Given the description of an element on the screen output the (x, y) to click on. 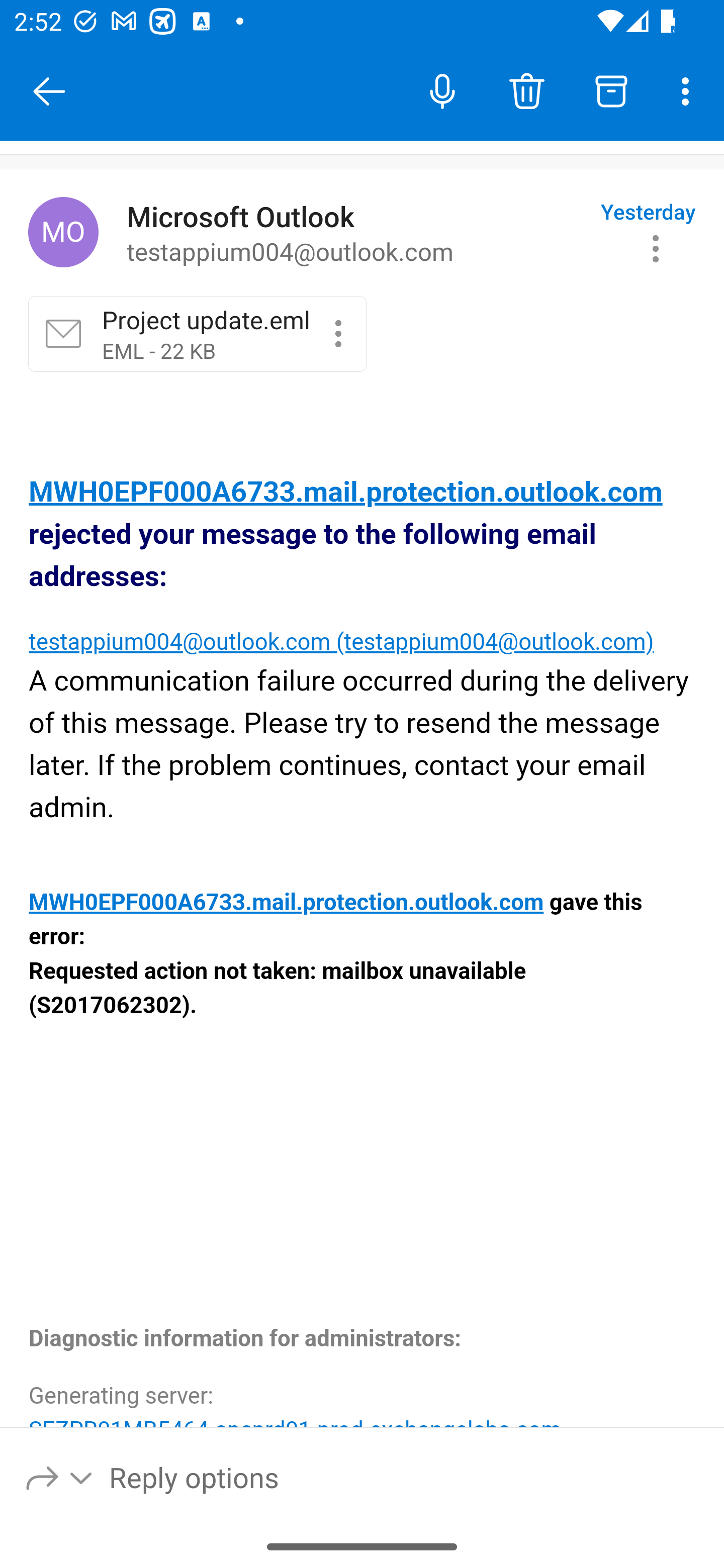
Close (49, 91)
Delete (526, 90)
Archive (611, 90)
More options (688, 90)
Microsoft Outlook
to testappium004@outlook.com (356, 232)
Message actions (655, 248)
Project update.eml (338, 333)
Reply options (59, 1476)
